Given the description of an element on the screen output the (x, y) to click on. 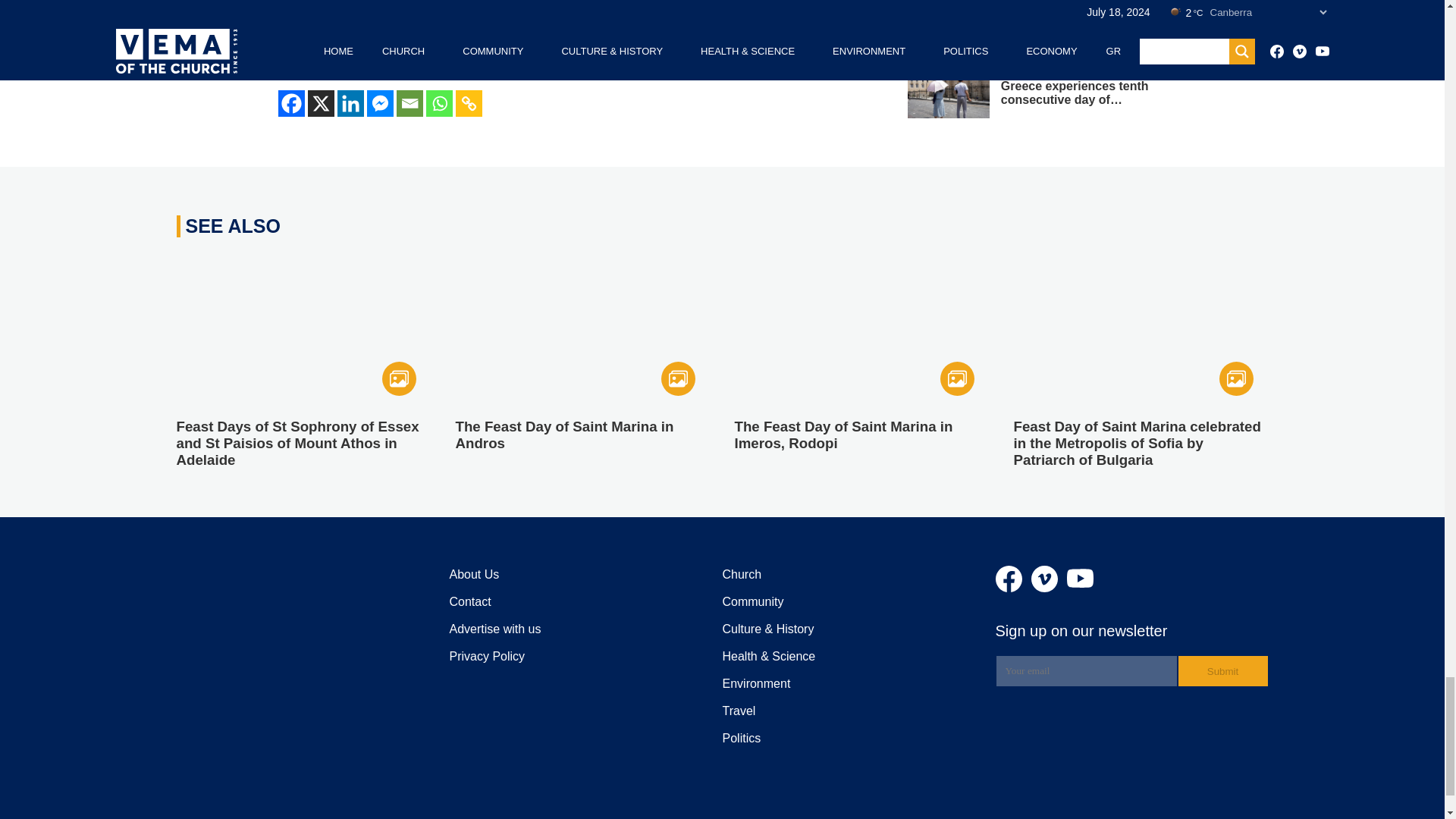
Whatsapp (439, 103)
Email (409, 103)
Linkedin (349, 103)
Copy Link (467, 103)
ST Spyridon (579, 20)
X (320, 103)
Facebook (291, 103)
